Given the description of an element on the screen output the (x, y) to click on. 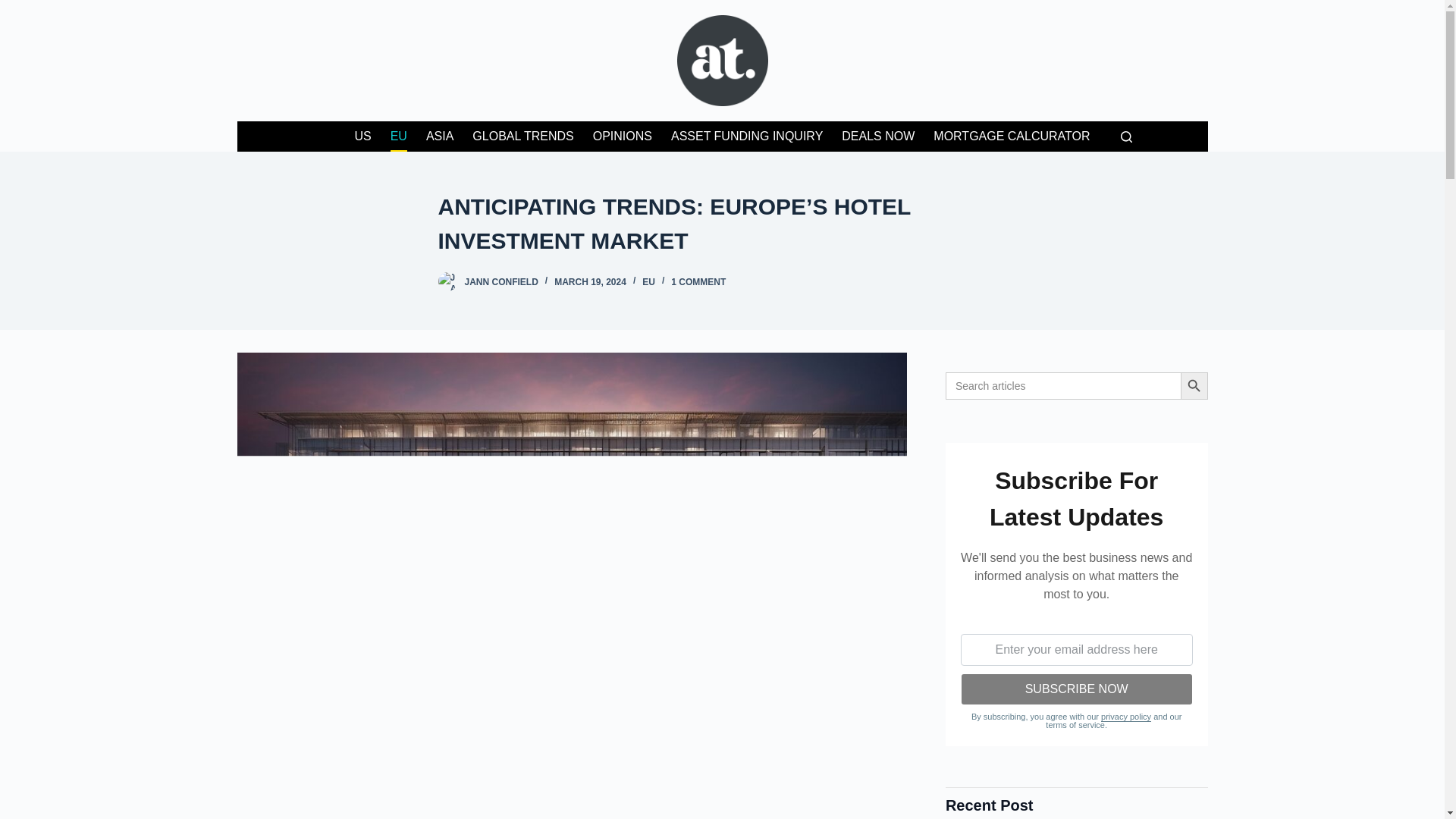
SUBSCRIBE NOW (1076, 689)
ASSET FUNDING INQUIRY (746, 136)
SUBSCRIBE NOW (1076, 689)
Search Button (1193, 386)
1 COMMENT (698, 281)
JANN CONFIELD (500, 281)
OPINIONS (622, 136)
US (362, 136)
ASIA (439, 136)
Posts by Jann Confield (500, 281)
